Given the description of an element on the screen output the (x, y) to click on. 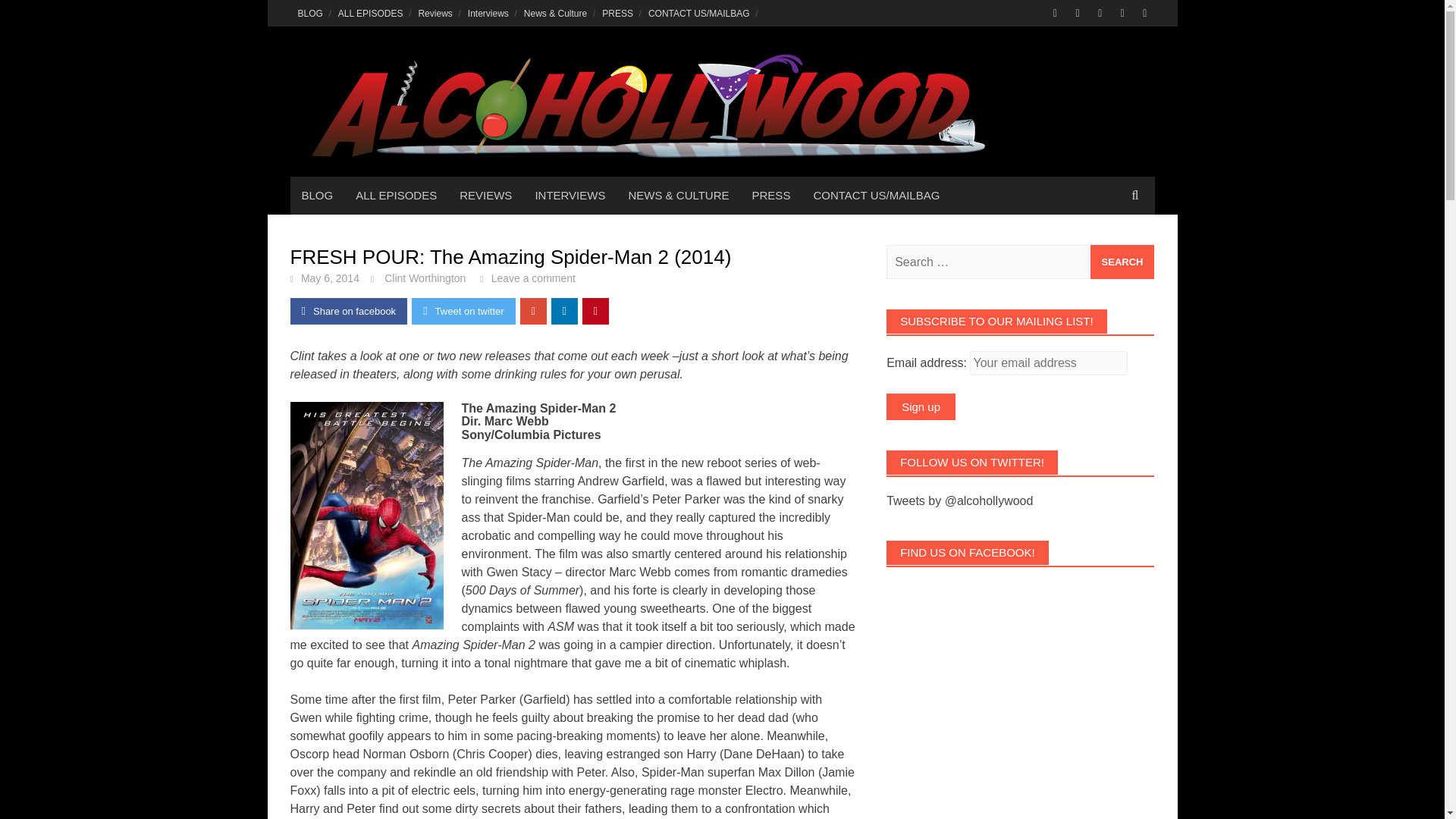
Interviews (488, 13)
PRESS (771, 195)
Clint Worthington (424, 277)
ALL EPISODES (370, 13)
May 6, 2014 (330, 277)
BLOG (316, 195)
REVIEWS (485, 195)
BLOG (309, 13)
ALL EPISODES (395, 195)
Reviews (435, 13)
PRESS (617, 13)
INTERVIEWS (568, 195)
